Given the description of an element on the screen output the (x, y) to click on. 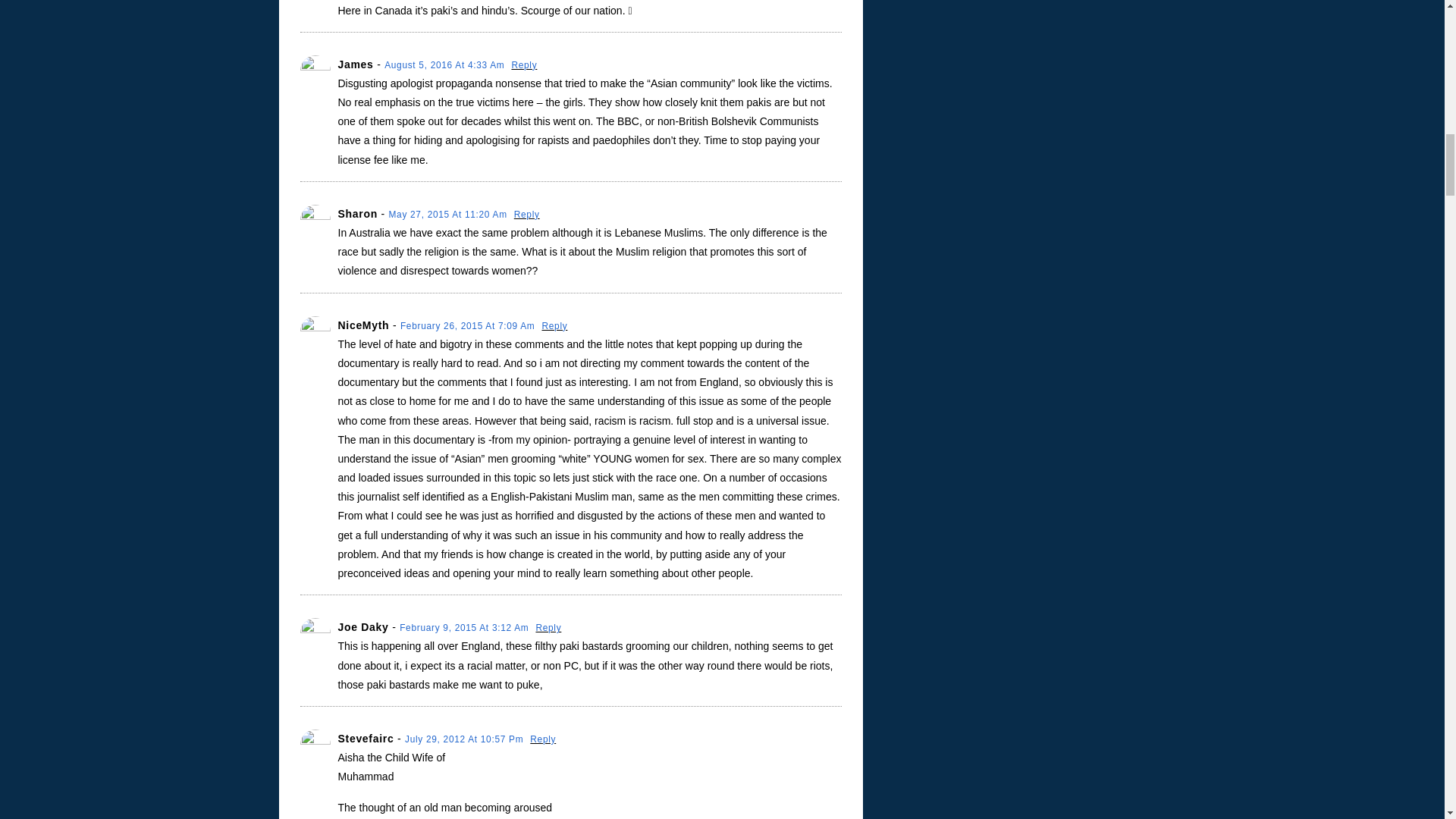
Reply (526, 214)
Reply (554, 326)
August 5, 2016 At 4:33 Am (445, 64)
February 26, 2015 At 7:09 Am (469, 326)
Reply (542, 738)
May 27, 2015 At 11:20 Am (448, 214)
February 9, 2015 At 3:12 Am (464, 627)
July 29, 2012 At 10:57 Pm (464, 738)
Reply (524, 64)
Reply (547, 627)
